Given the description of an element on the screen output the (x, y) to click on. 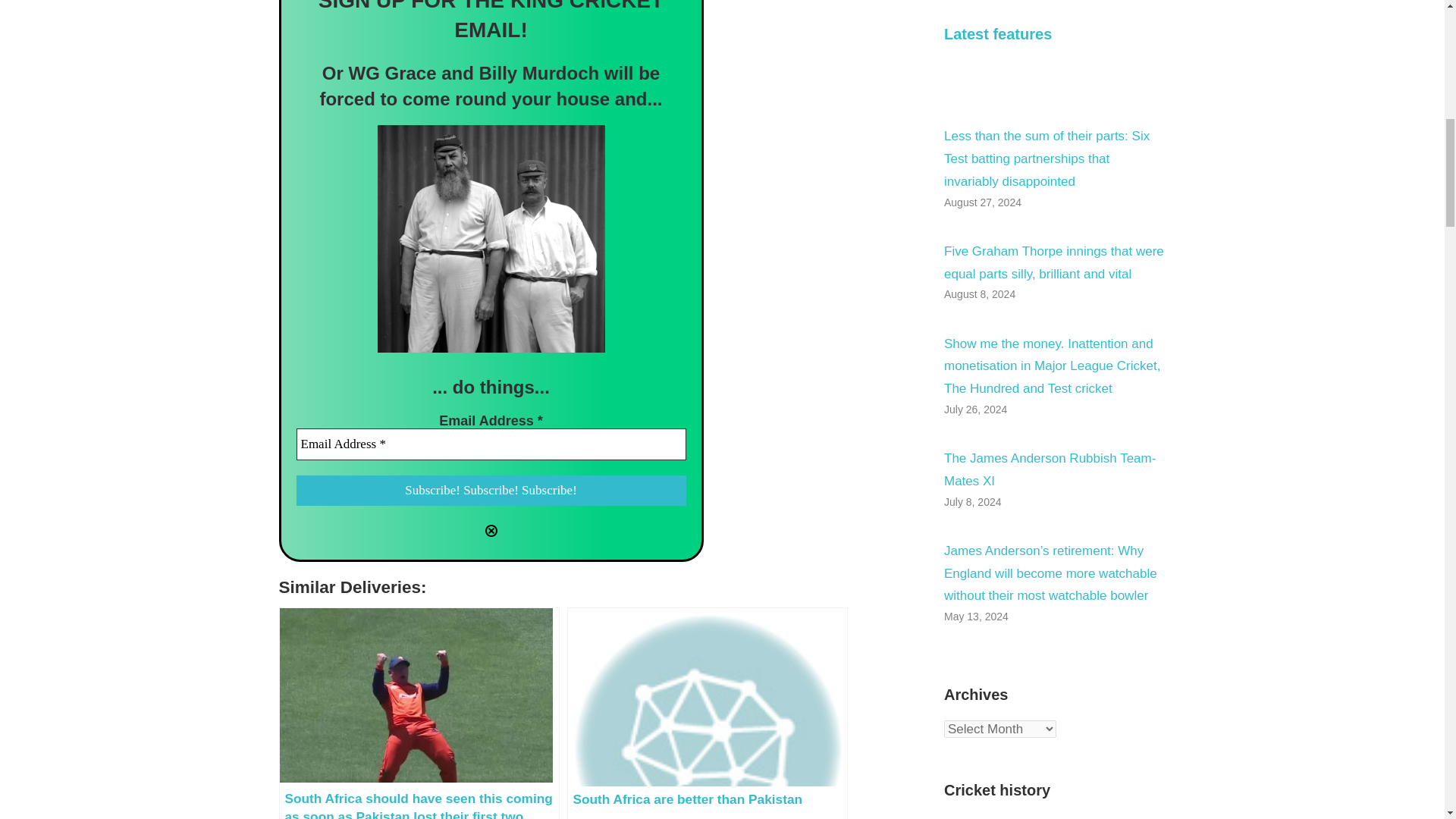
Subscribe! Subscribe! Subscribe! (490, 490)
Email Address (490, 444)
South Africa are better than Pakistan (707, 713)
Subscribe! Subscribe! Subscribe! (490, 490)
South Africa are better than Pakistan (707, 713)
